Given the description of an element on the screen output the (x, y) to click on. 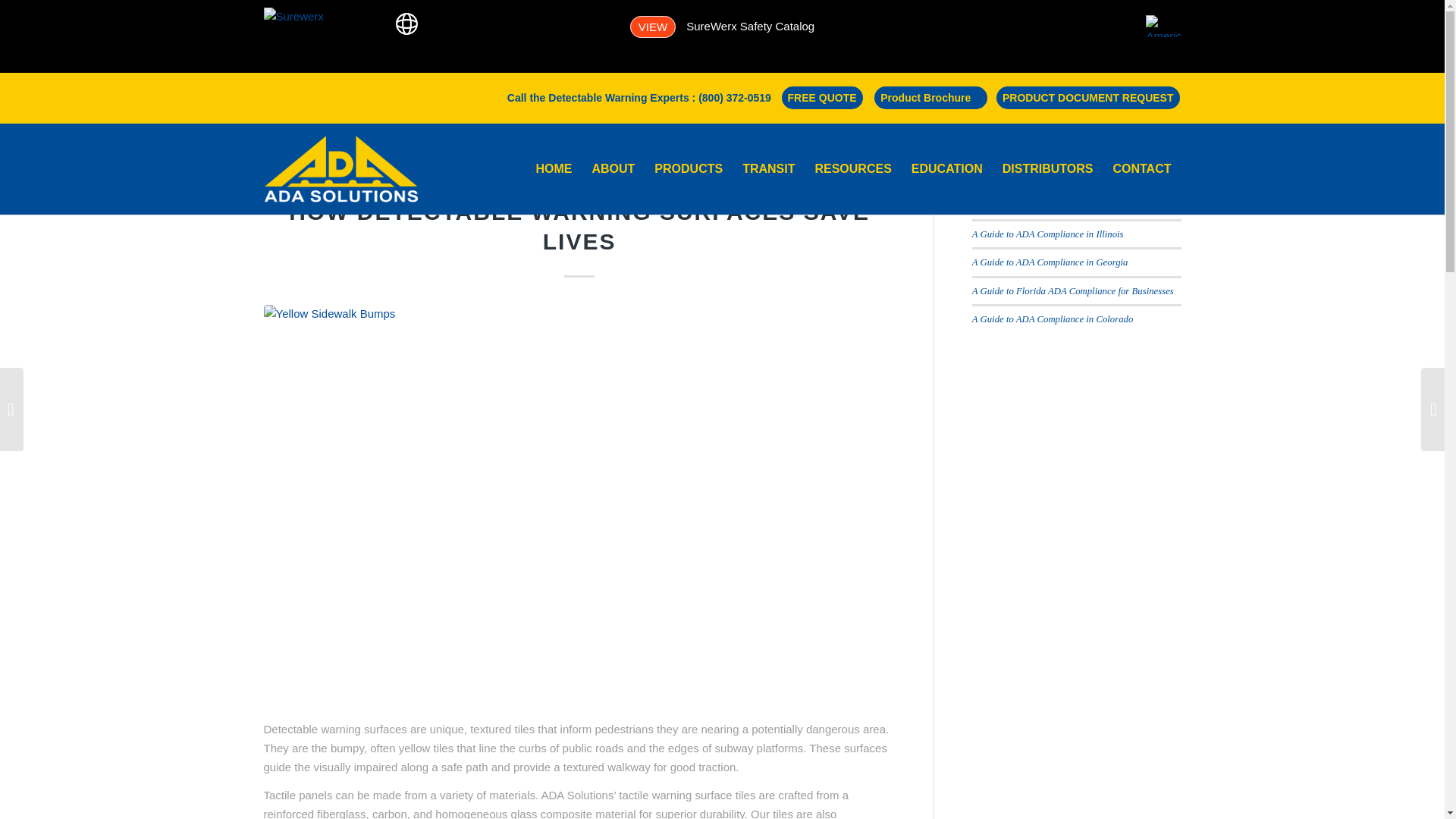
FREE QUOTE (822, 97)
VIEW (652, 26)
PRODUCT DOCUMENT REQUEST (1087, 97)
EDUCATION (946, 168)
DISTRIBUTORS (1047, 168)
ada-solutions-sm (341, 168)
Product Brochure (931, 97)
RESOURCES (853, 168)
PRODUCTS (688, 168)
